Given the description of an element on the screen output the (x, y) to click on. 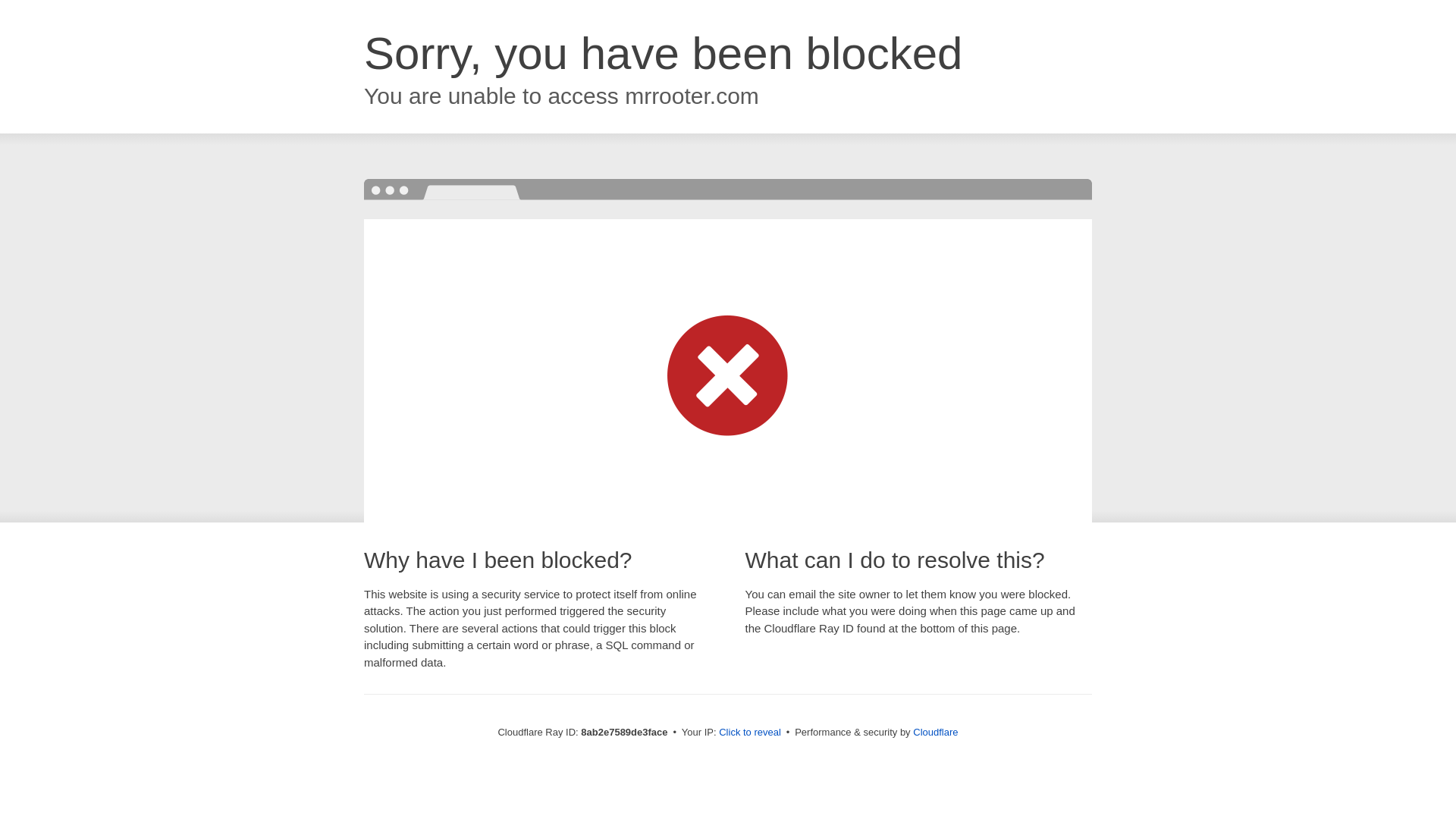
Click to reveal (749, 732)
Cloudflare (935, 731)
